Given the description of an element on the screen output the (x, y) to click on. 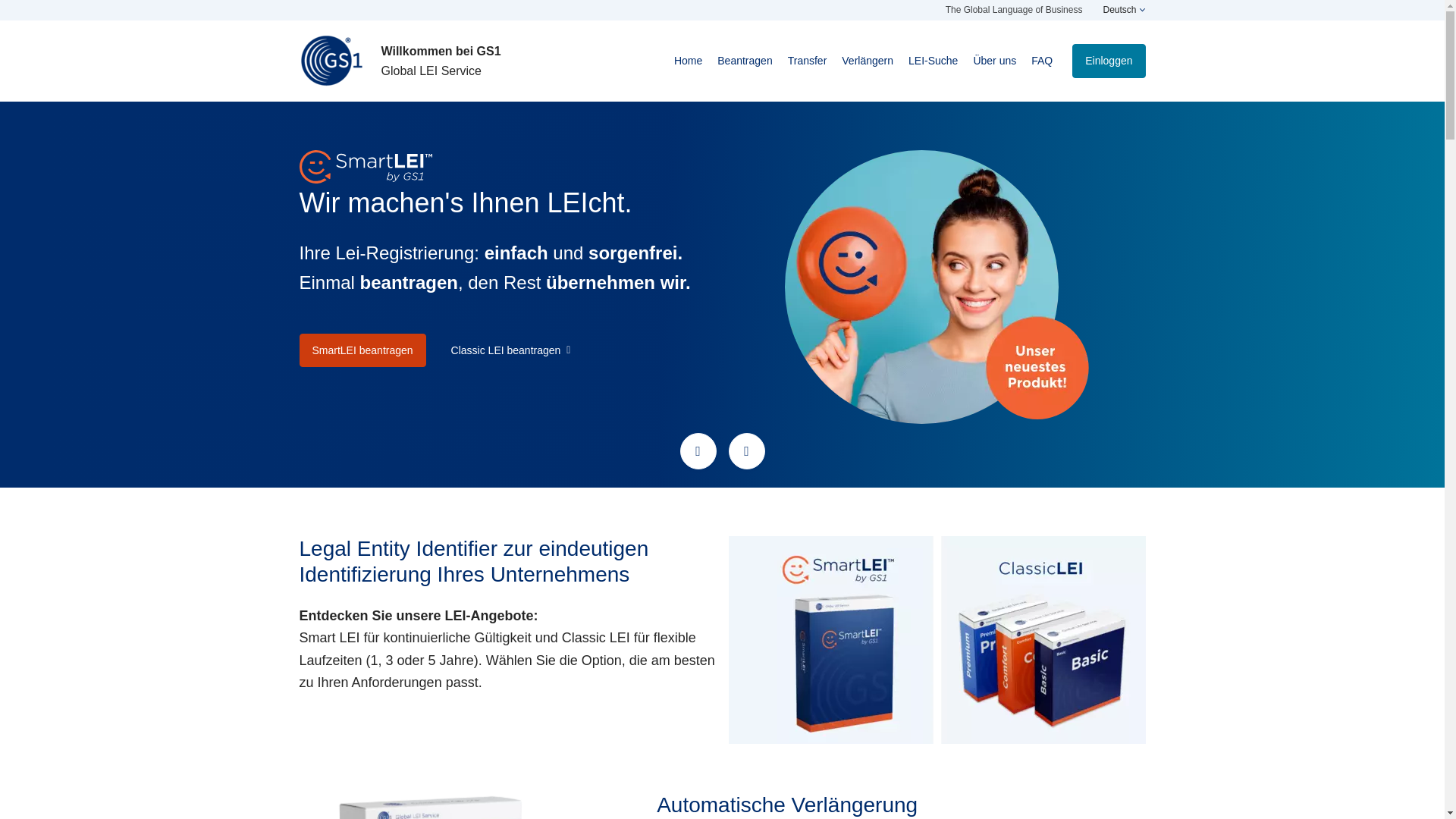
FAQ (1041, 60)
SmartLEI beantragen (361, 350)
Home (688, 60)
LEI-Suche (933, 60)
Beantragen (744, 60)
Einloggen (1107, 60)
Home (688, 60)
LEI-Suche (933, 60)
Transfer (807, 60)
Global LEI Service (330, 61)
Classic LEI beantragen (510, 350)
Beantragen (744, 60)
Transfer (807, 60)
